Given the description of an element on the screen output the (x, y) to click on. 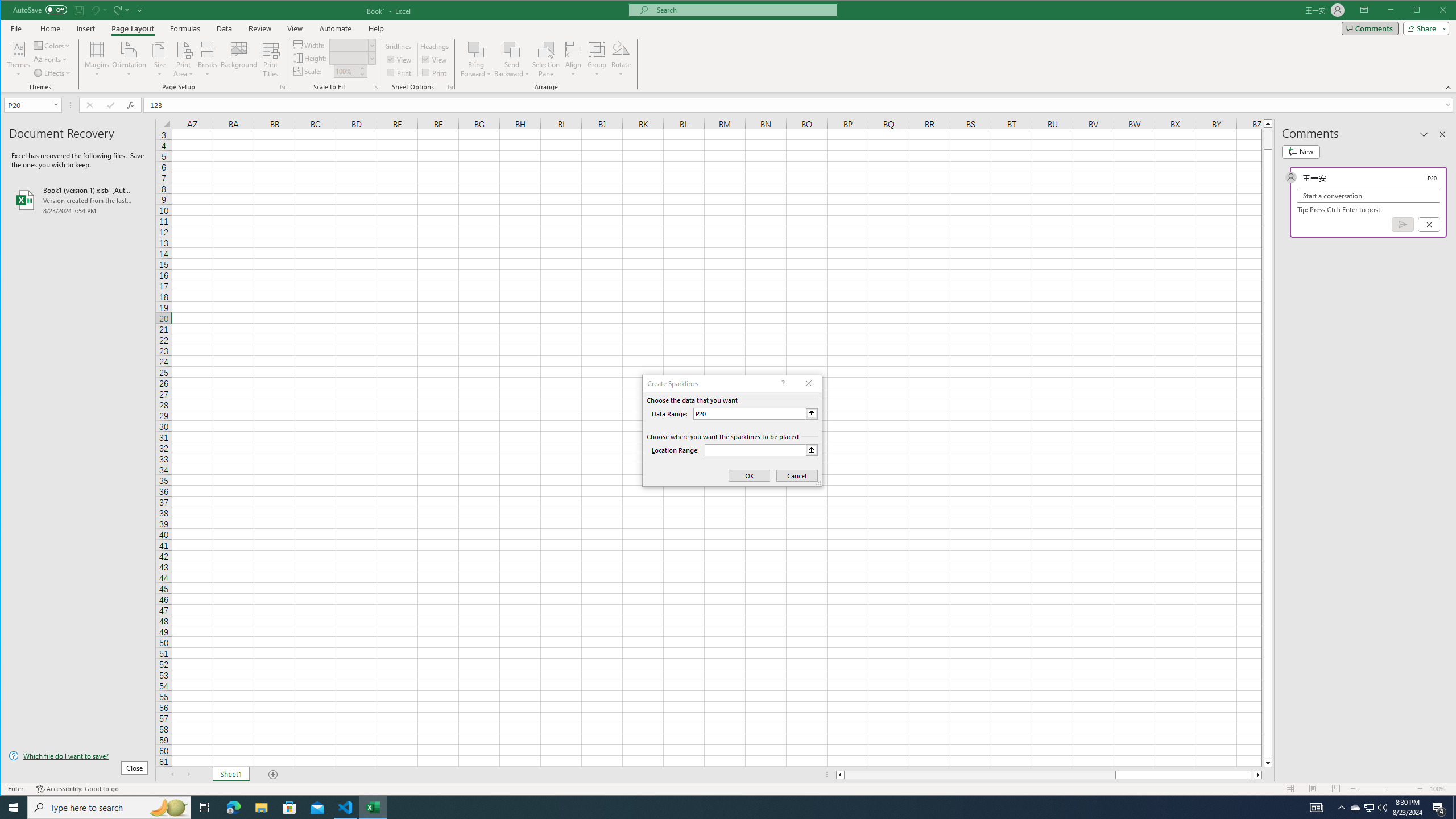
Post comment (Ctrl + Enter) (1402, 224)
Align (573, 59)
Bring Forward (476, 48)
Less (361, 73)
Width (352, 44)
Height (349, 58)
Send Backward (512, 59)
Themes (18, 59)
